Given the description of an element on the screen output the (x, y) to click on. 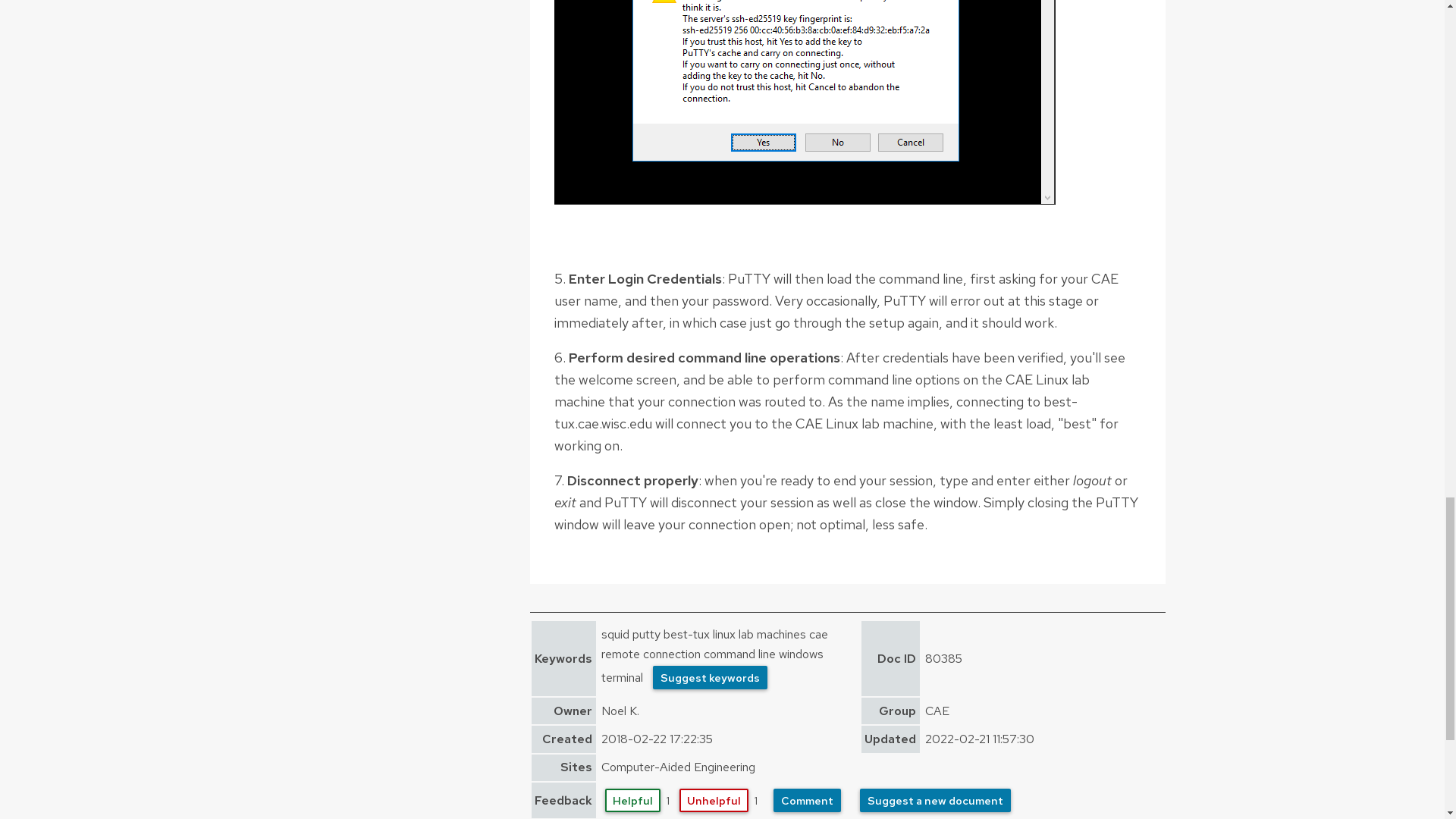
Suggest keywords (709, 677)
Suggest a new document (935, 800)
Helpful (633, 800)
Accepting the best-tux.cae.wisc.edu host key - example (803, 102)
Comment (807, 800)
Unhelpful (713, 800)
